Given the description of an element on the screen output the (x, y) to click on. 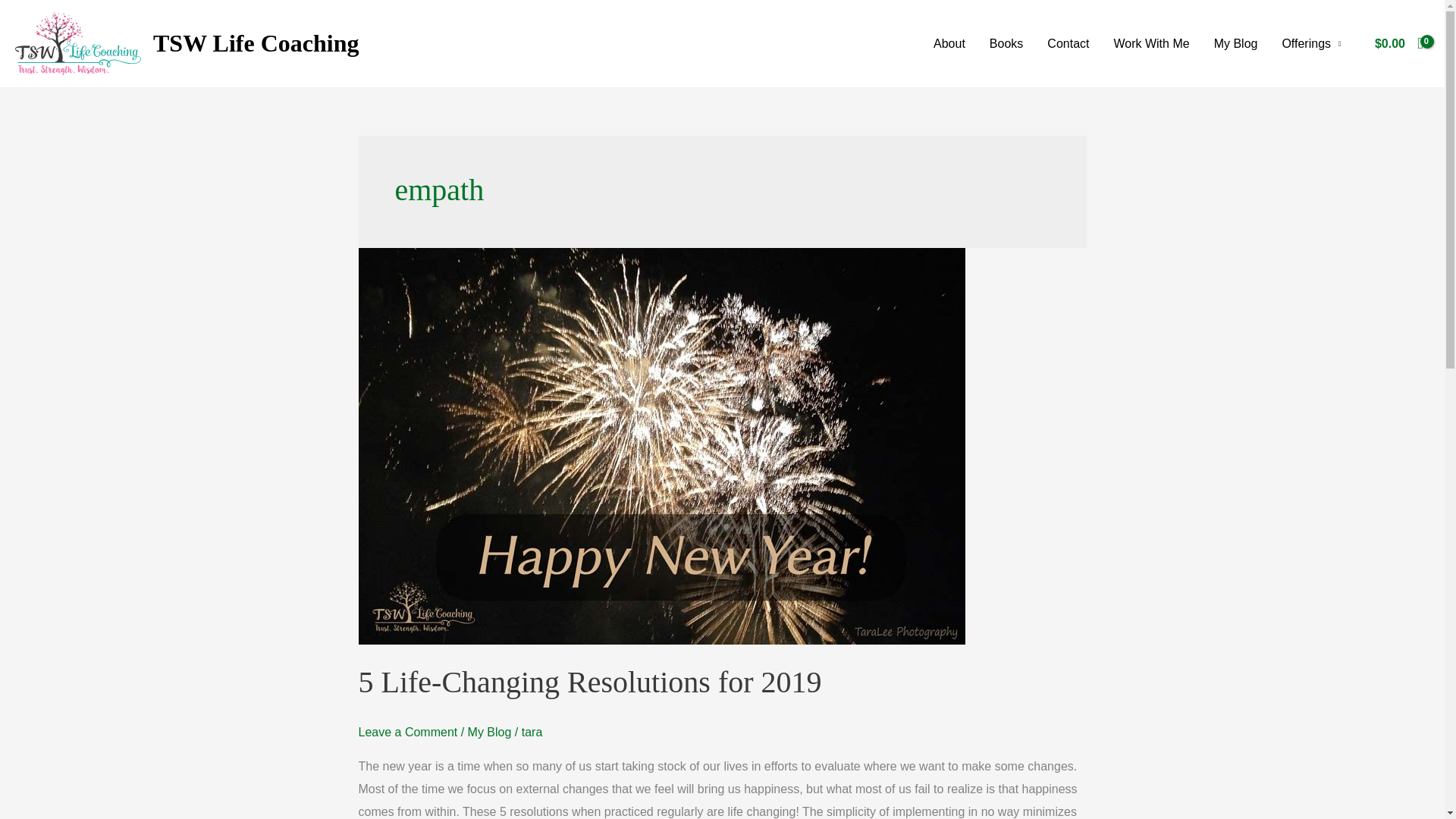
About (948, 42)
TSW Life Coaching (255, 42)
5 Life-Changing Resolutions for 2019 (589, 682)
Contact (1067, 42)
Leave a Comment (407, 731)
Books (1005, 42)
View all posts by tara (532, 731)
My Blog (1235, 42)
Work With Me (1150, 42)
Offerings (1310, 42)
